Given the description of an element on the screen output the (x, y) to click on. 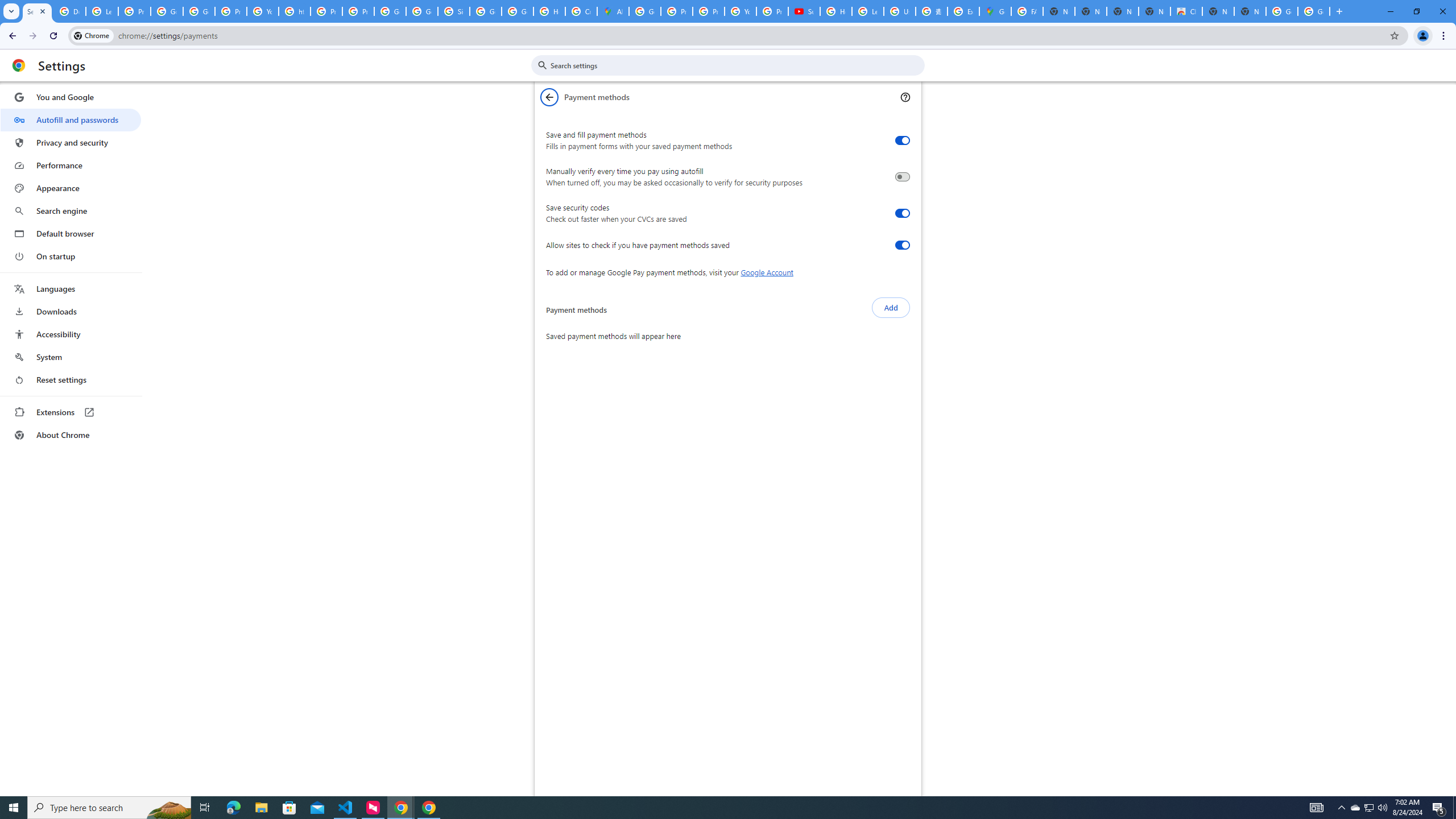
Downloads (70, 311)
Search engine (70, 210)
Subscriptions - YouTube (804, 11)
Reset settings (70, 379)
Settings - Payment methods (37, 11)
Explore new street-level details - Google Maps Help (963, 11)
Default browser (70, 233)
Google Account Help (166, 11)
Languages (70, 288)
YouTube (740, 11)
About Chrome (70, 434)
